Given the description of an element on the screen output the (x, y) to click on. 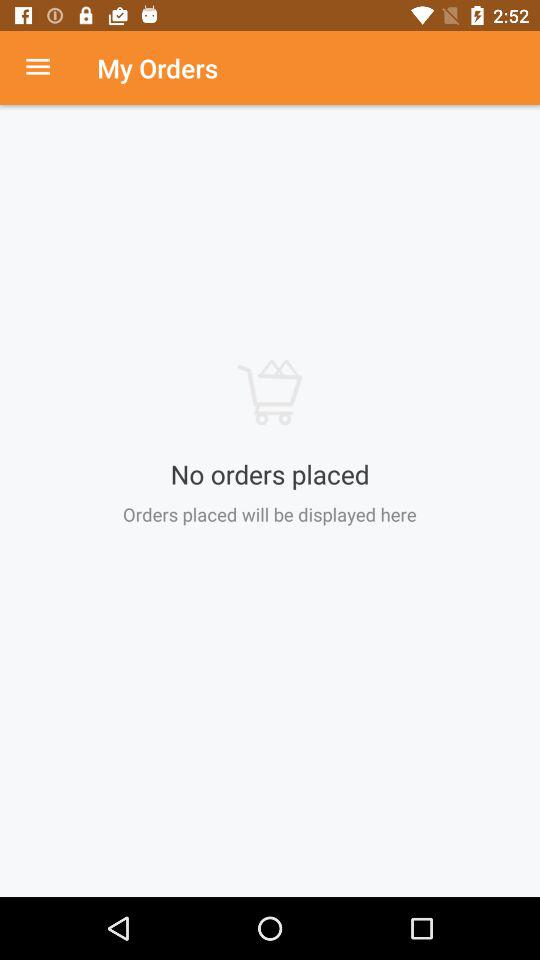
select icon next to my orders (48, 67)
